Given the description of an element on the screen output the (x, y) to click on. 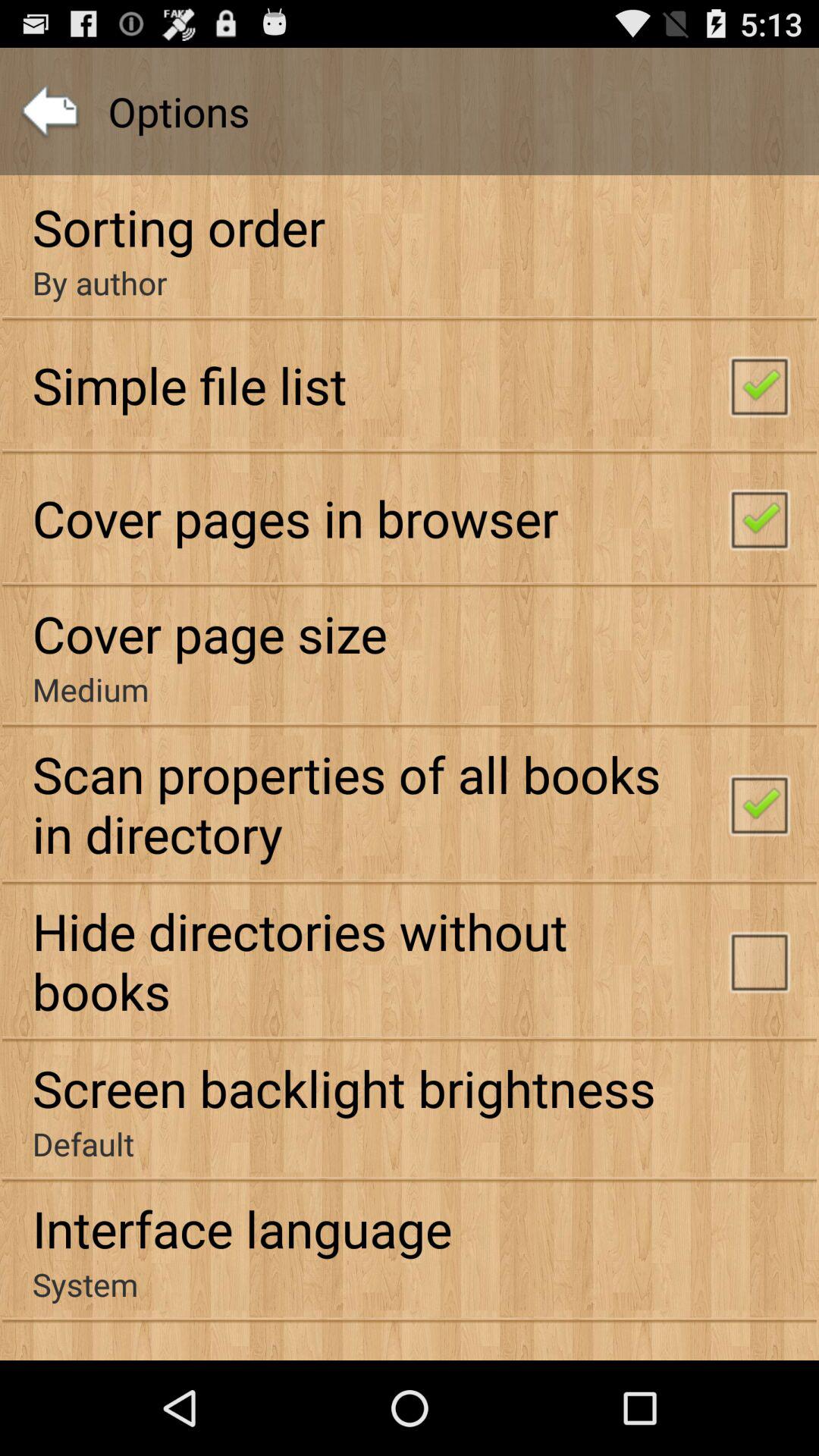
choose the icon next to the options item (49, 111)
